Given the description of an element on the screen output the (x, y) to click on. 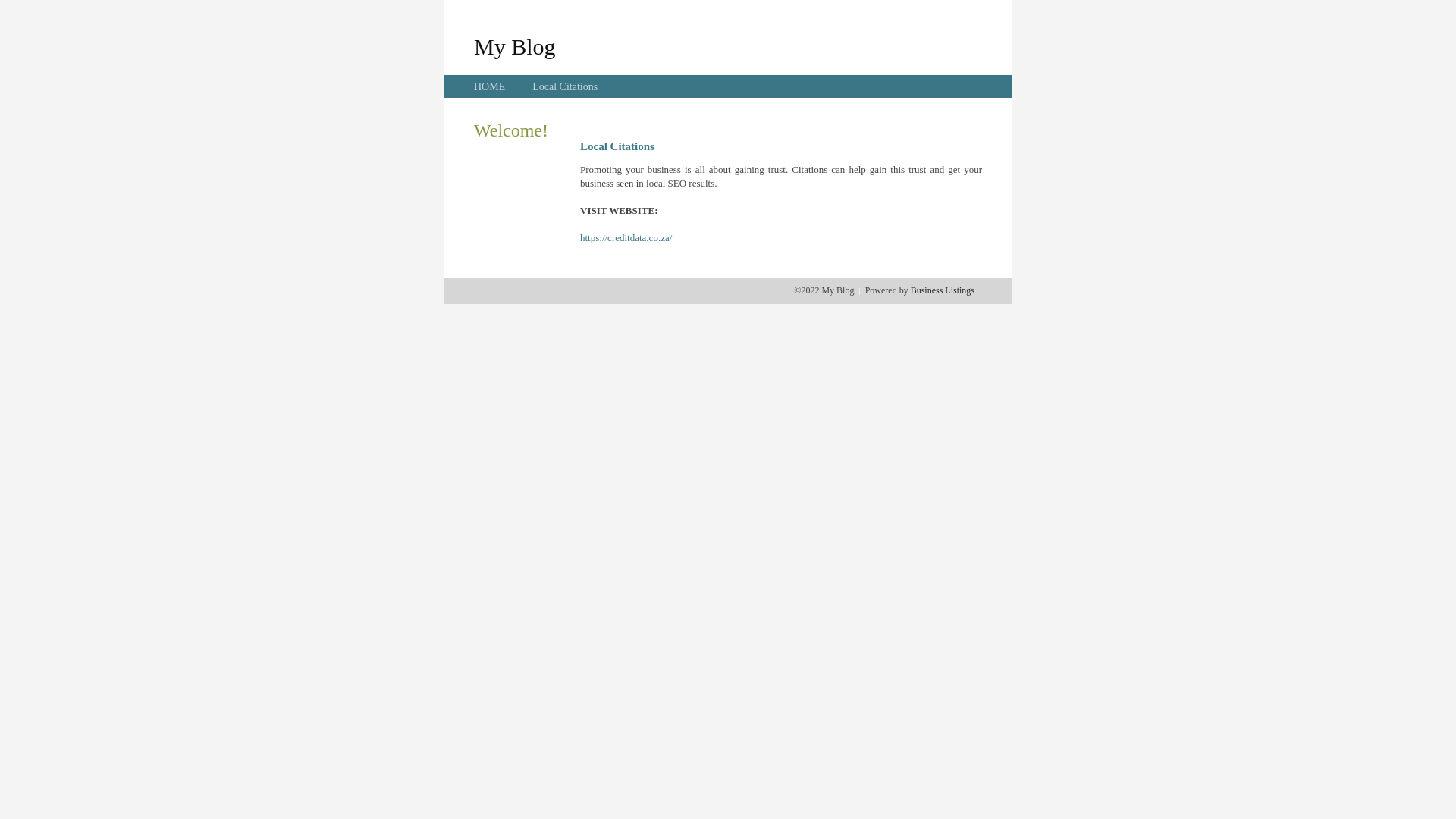
https://creditdata.co.za/ Element type: text (625, 237)
Local Citations Element type: text (564, 86)
My Blog Element type: text (514, 46)
Business Listings Element type: text (942, 290)
HOME Element type: text (489, 86)
